Given the description of an element on the screen output the (x, y) to click on. 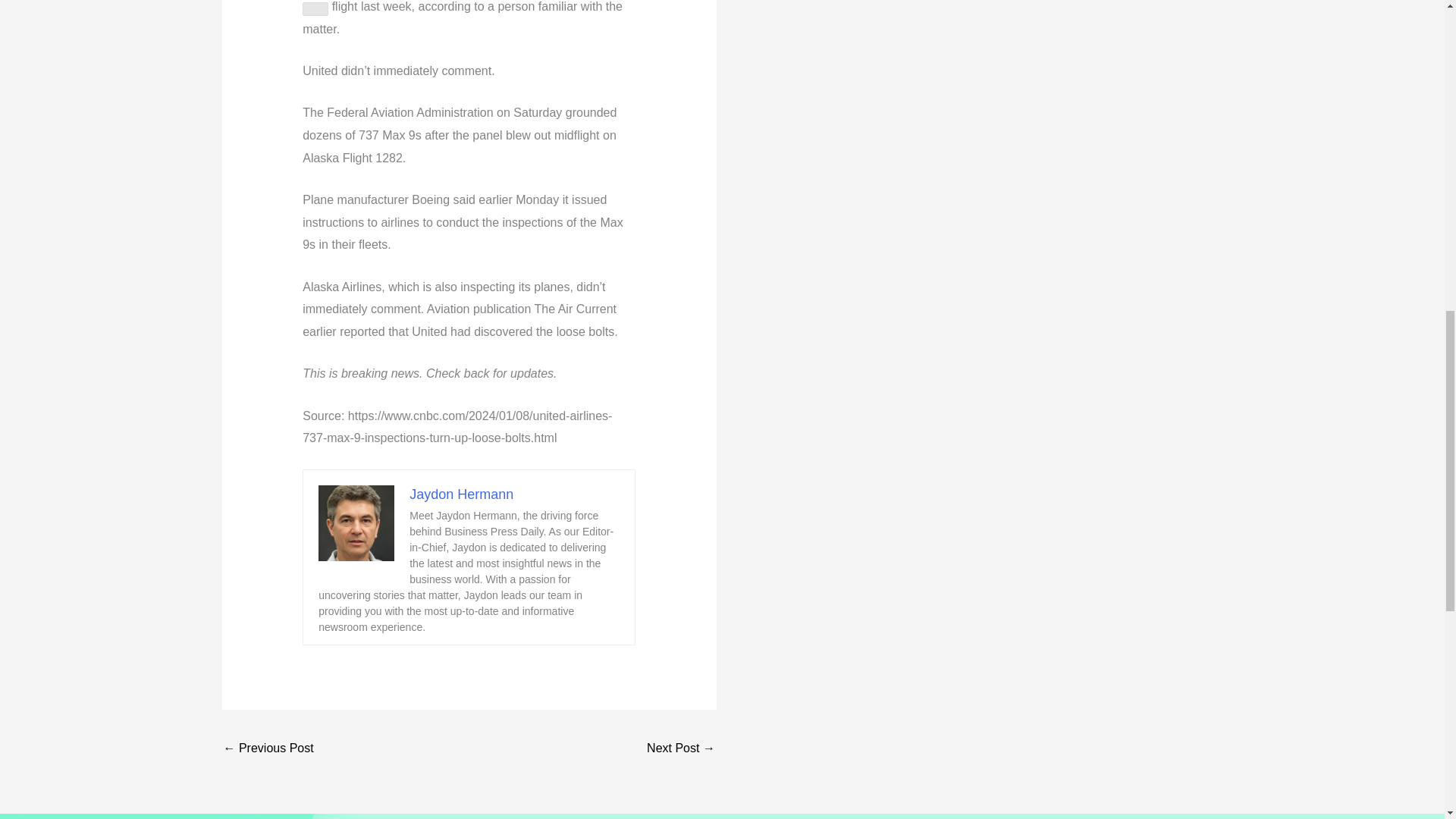
Jaydon Hermann (461, 494)
